Given the description of an element on the screen output the (x, y) to click on. 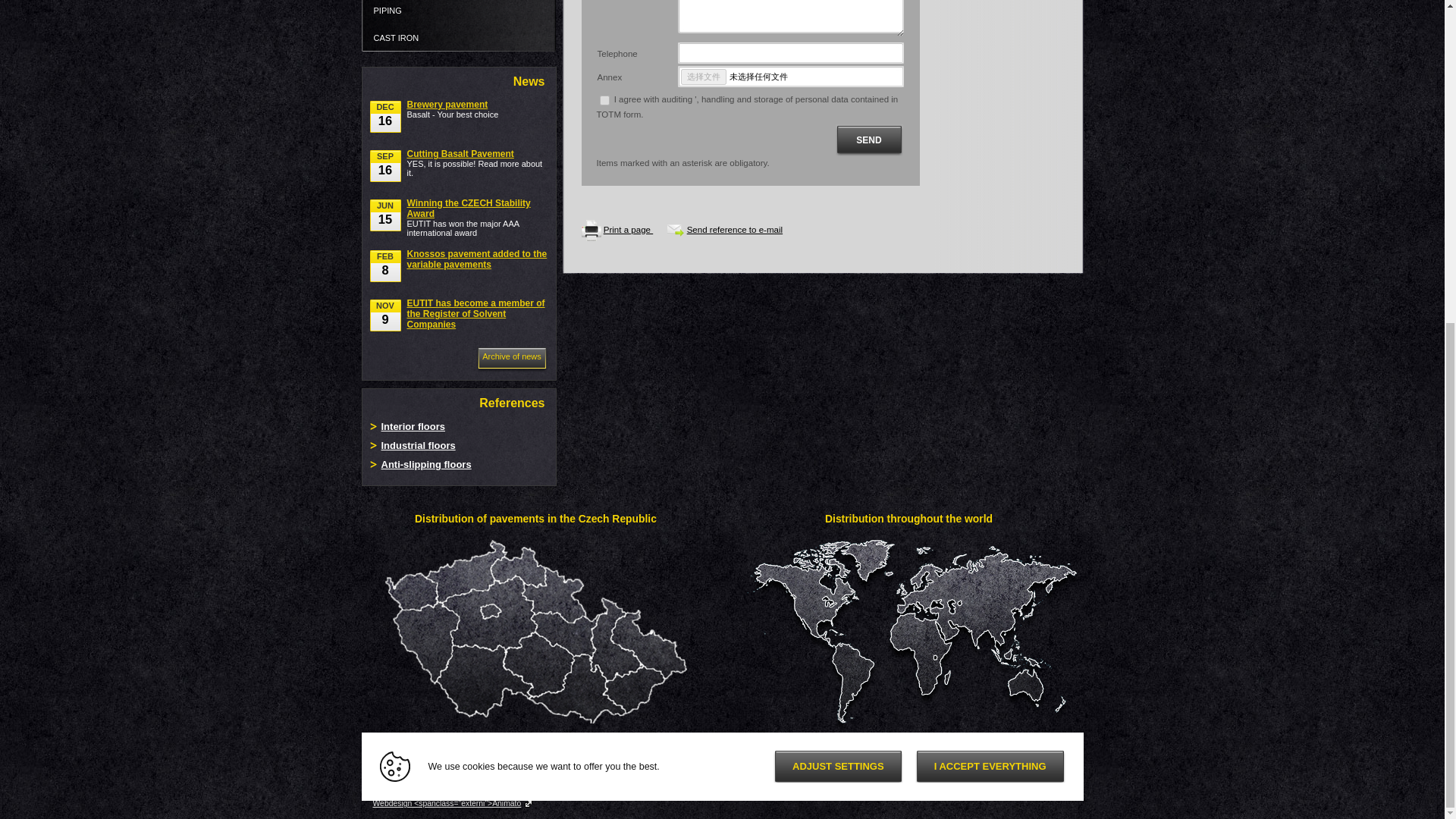
Send (868, 140)
Print a page (628, 229)
a (603, 100)
Send reference to e-mail (735, 229)
Send (868, 140)
